Given the description of an element on the screen output the (x, y) to click on. 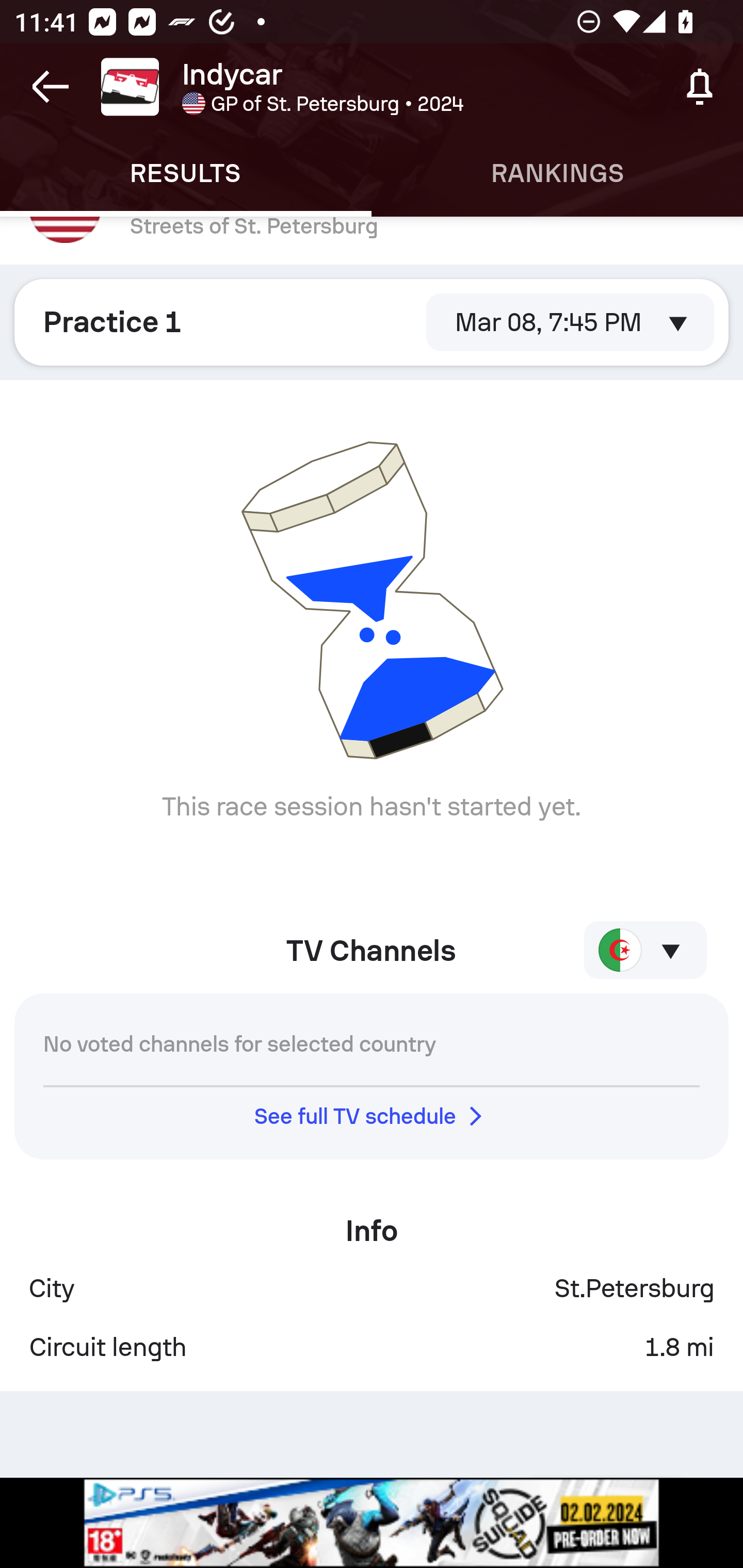
Navigate up (50, 86)
Rankings RANKINGS (557, 173)
Practice 1 Mar 08, 7:45 PM (371, 322)
Mar 08, 7:45 PM (570, 322)
See full TV schedule (371, 1115)
kgdfiivk_320x50 (371, 1522)
